Given the description of an element on the screen output the (x, y) to click on. 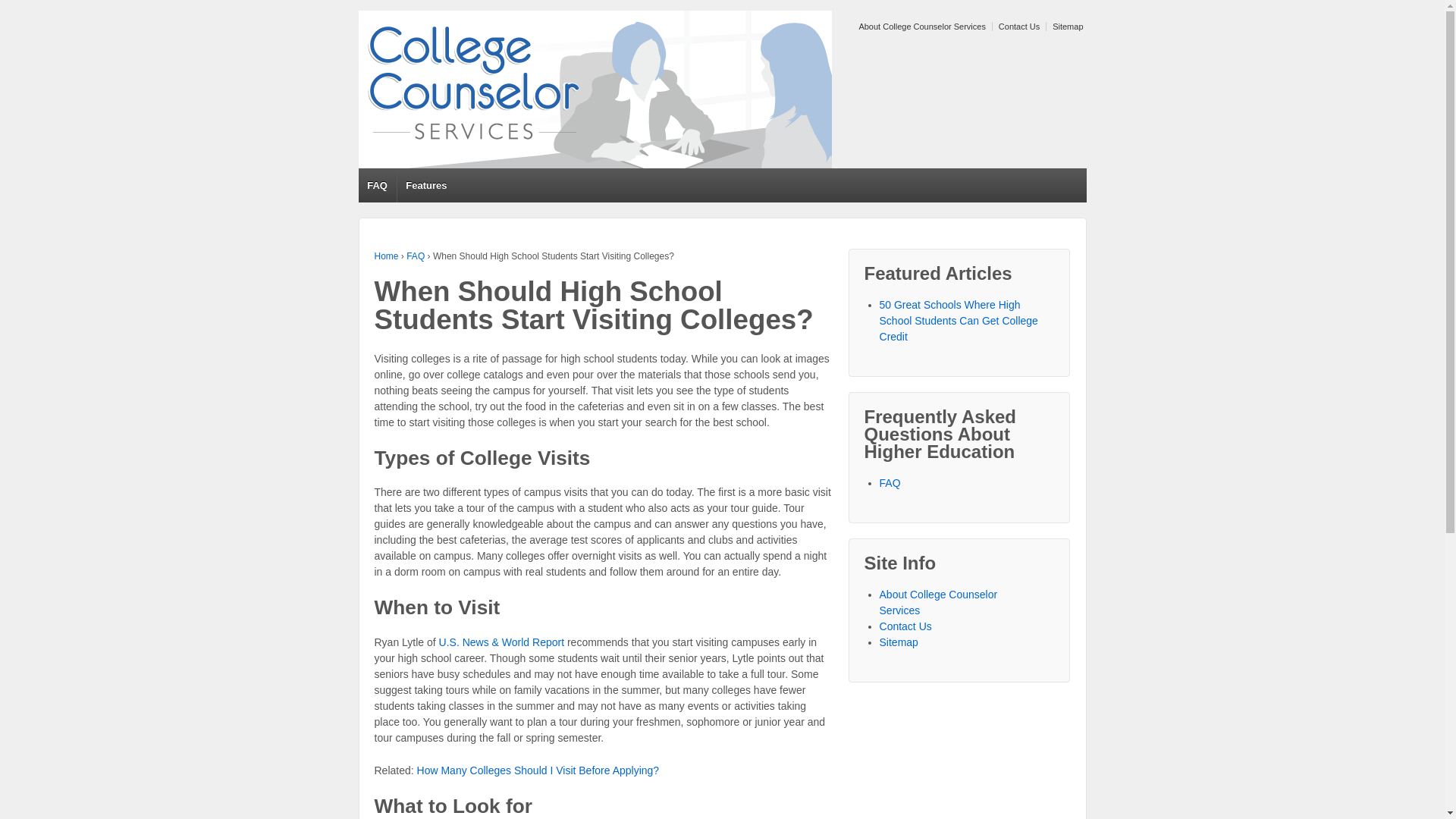
About College Counselor Services (938, 602)
Home (386, 255)
Features (426, 185)
How Many Colleges Should I Visit Before Applying? (537, 770)
FAQ (377, 185)
Sitemap (1065, 26)
Sitemap (898, 642)
About College Counselor Services (919, 26)
Contact Us (905, 625)
FAQ (890, 482)
Contact Us (1016, 26)
FAQ (415, 255)
